Given the description of an element on the screen output the (x, y) to click on. 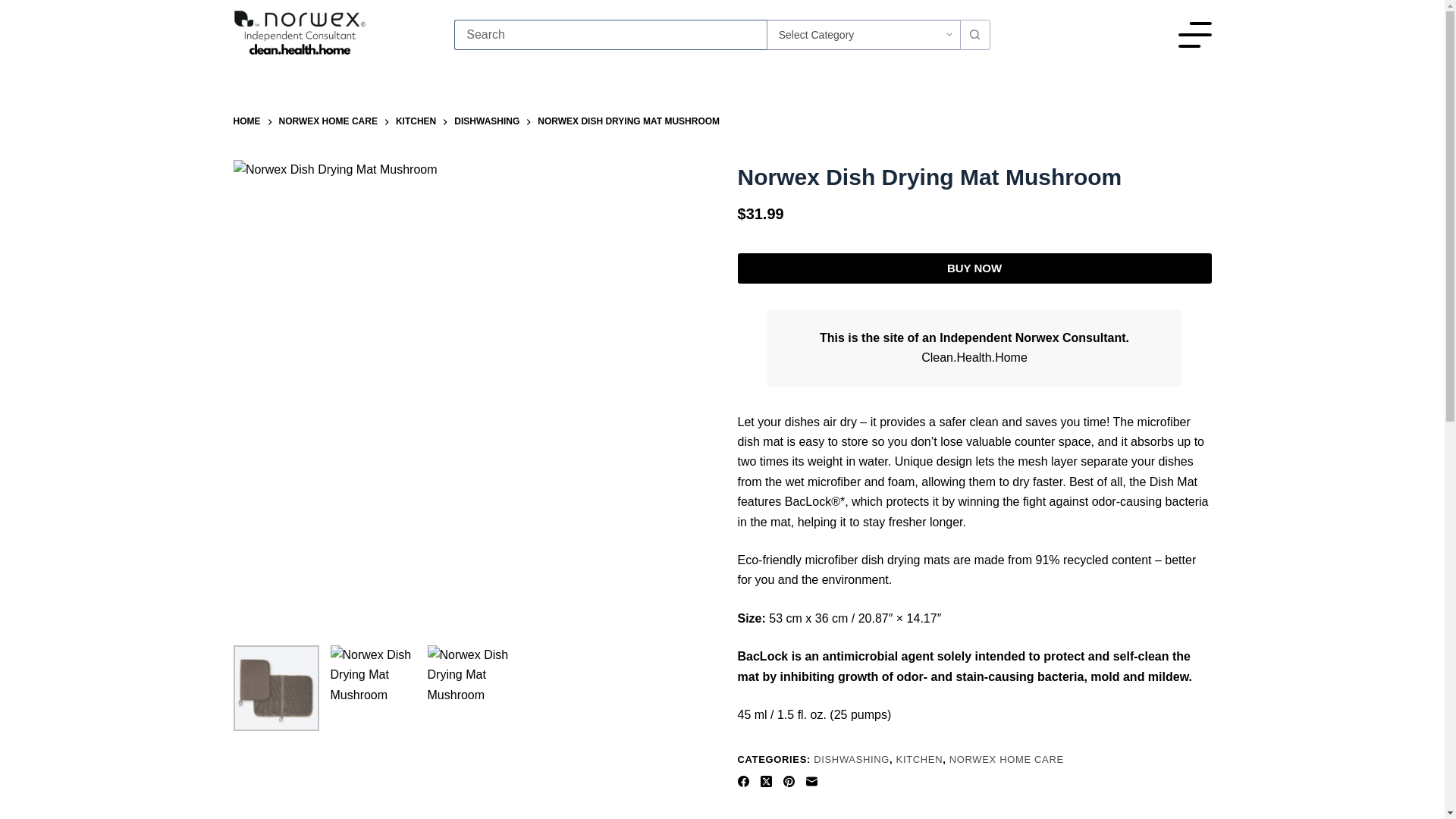
Search for... (609, 34)
Norwex Dish Mat4 (275, 688)
Norwex Dish Mat5 (373, 688)
Skip to content (15, 7)
Norwex Dish Mat6 (470, 688)
